Given the description of an element on the screen output the (x, y) to click on. 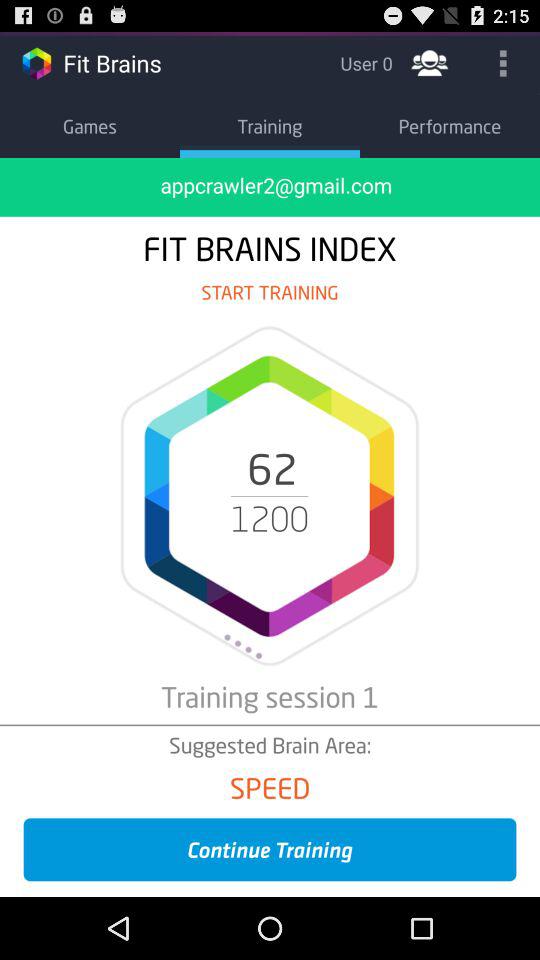
open item above performance app (503, 62)
